Given the description of an element on the screen output the (x, y) to click on. 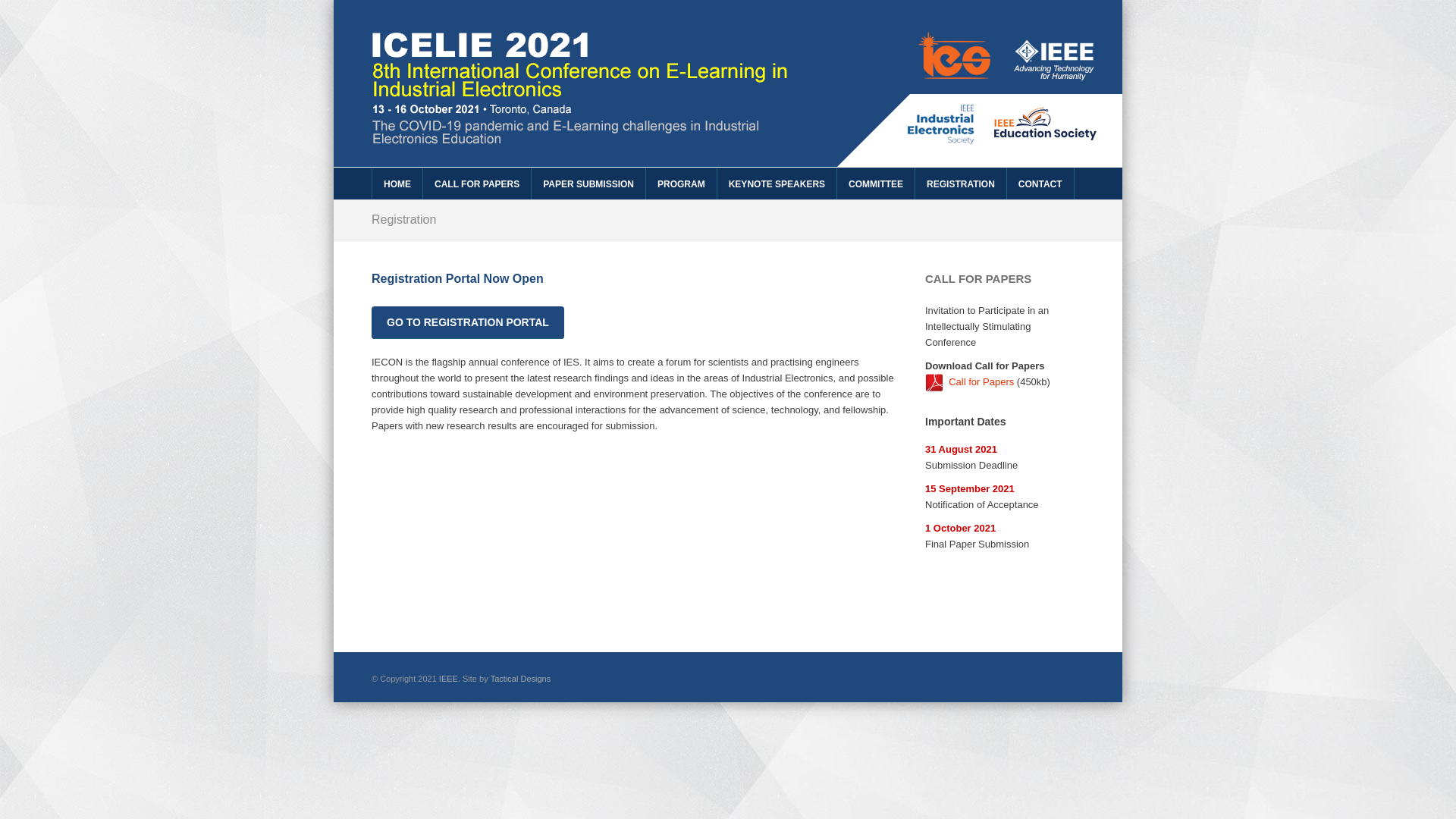
IEEE Element type: text (448, 678)
HOME Element type: text (396, 183)
GO TO REGISTRATION PORTAL Element type: text (467, 322)
REGISTRATION Element type: text (960, 183)
CONTACT Element type: text (1040, 183)
KEYNOTE SPEAKERS Element type: text (776, 183)
PAPER SUBMISSION Element type: text (587, 183)
Tactical Designs Element type: text (520, 678)
COMMITTEE Element type: text (875, 183)
CALL FOR PAPERS Element type: text (476, 183)
PROGRAM Element type: text (680, 183)
Call for Papers Element type: text (980, 381)
